Given the description of an element on the screen output the (x, y) to click on. 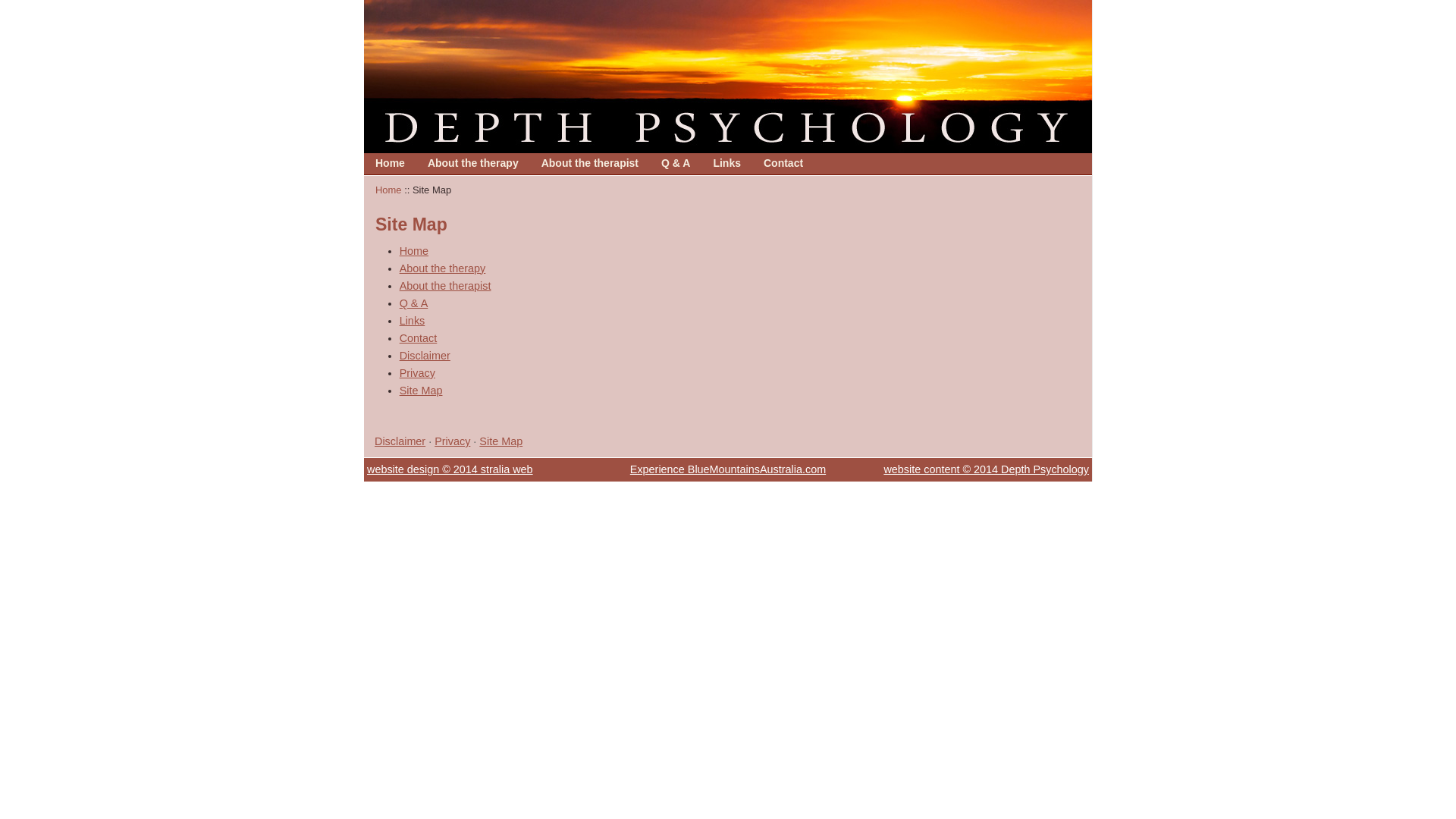
About the therapist Element type: text (589, 163)
Q & A Element type: text (675, 162)
Privacy Element type: text (417, 373)
Home Element type: text (389, 162)
Disclaimer Element type: text (424, 355)
Links Element type: text (726, 162)
Experience BlueMountainsAustralia.com Element type: text (727, 469)
Disclaimer Element type: text (399, 441)
About the therapy Element type: text (472, 162)
Home Element type: text (388, 189)
Links Element type: text (412, 320)
Home Element type: text (390, 163)
Site Map Element type: text (420, 390)
About the therapist Element type: text (589, 162)
About the therapist Element type: text (445, 285)
Contact Element type: text (418, 338)
Contact Element type: text (783, 163)
Contact Element type: text (783, 162)
Q & A Element type: text (413, 303)
Links Element type: text (726, 163)
About the therapy Element type: text (473, 163)
About the therapy Element type: text (442, 268)
Q & A Element type: text (675, 163)
Privacy Element type: text (452, 441)
Site Map Element type: text (500, 441)
Home Element type: text (413, 250)
